Given the description of an element on the screen output the (x, y) to click on. 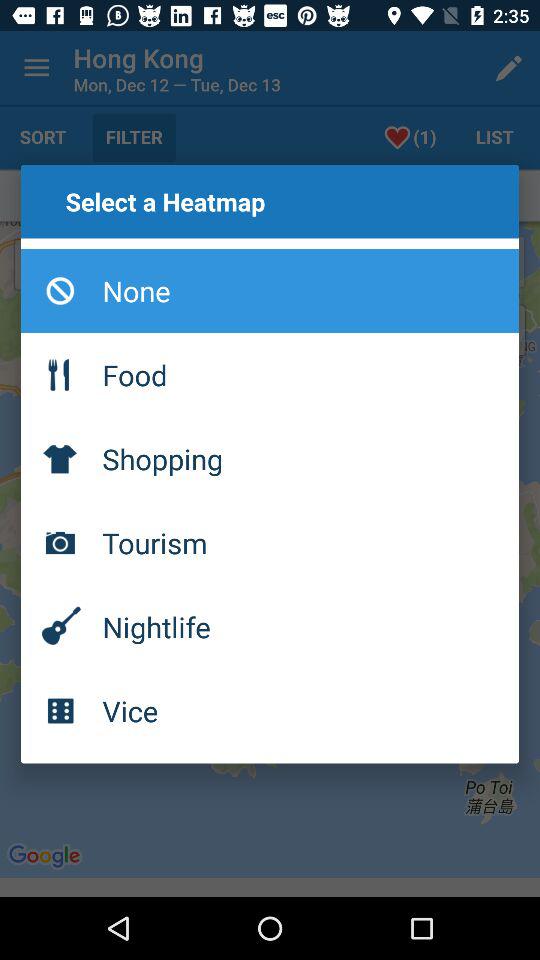
press item above tourism icon (270, 458)
